Given the description of an element on the screen output the (x, y) to click on. 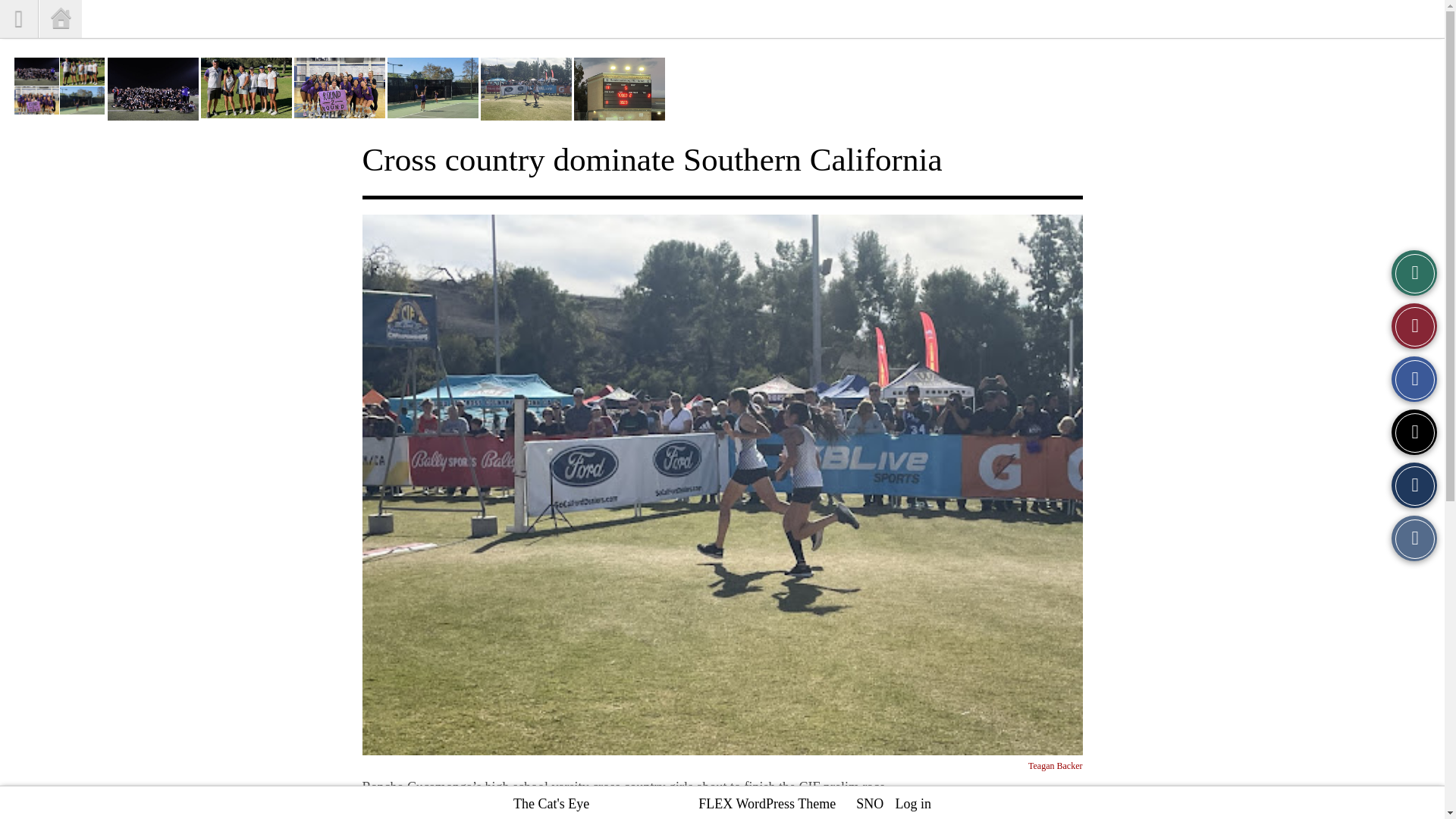
Print (1414, 538)
Log in (913, 803)
Share via Email (1414, 484)
Teagan Backer (1054, 765)
The Cat's Eye (551, 803)
FLEX WordPress Theme (766, 803)
Share on Facebook (1414, 379)
Print this Story (1414, 538)
Share on Facebook (1414, 379)
Tweet This Story (1414, 432)
Share on X (1414, 432)
Email this Story (1414, 484)
SNO (869, 803)
